Given the description of an element on the screen output the (x, y) to click on. 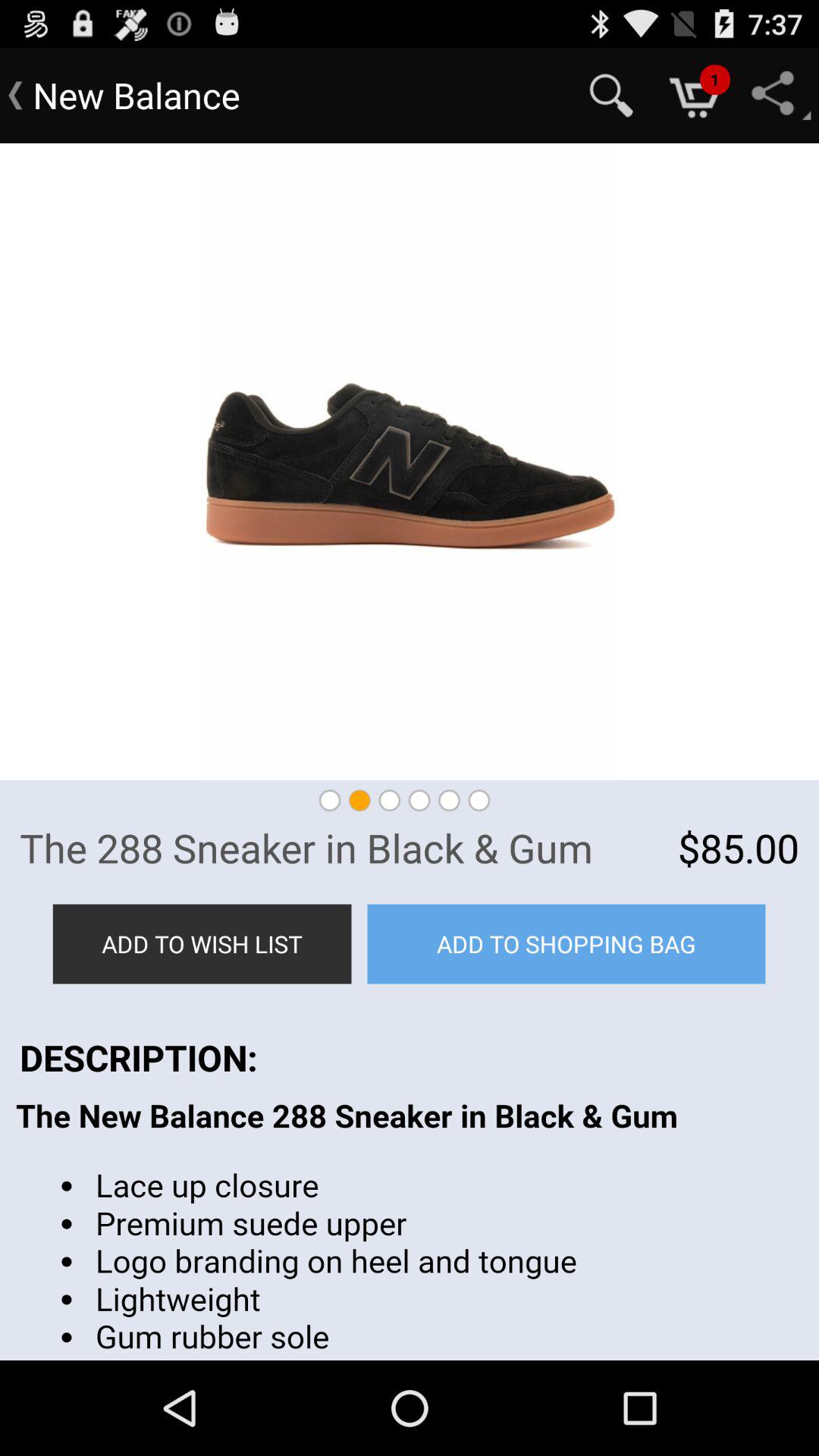
show full view (409, 461)
